Given the description of an element on the screen output the (x, y) to click on. 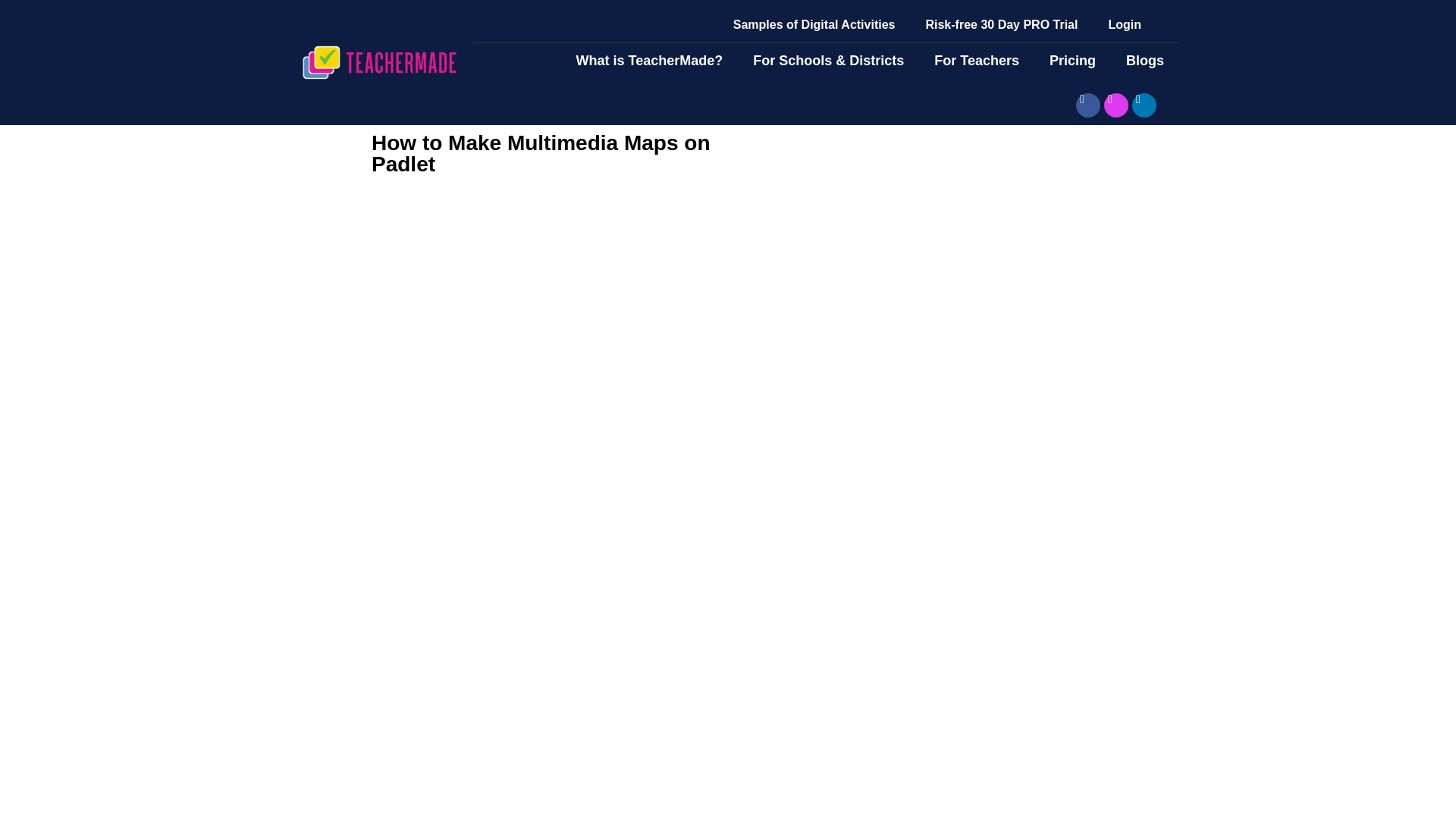
What is TeacherMade? (649, 60)
For Teachers (975, 60)
Samples of Digital Activities (814, 24)
Risk-free 30 Day PRO Trial (1001, 24)
Blogs (1144, 60)
Pricing (1071, 60)
Login (1124, 24)
